Given the description of an element on the screen output the (x, y) to click on. 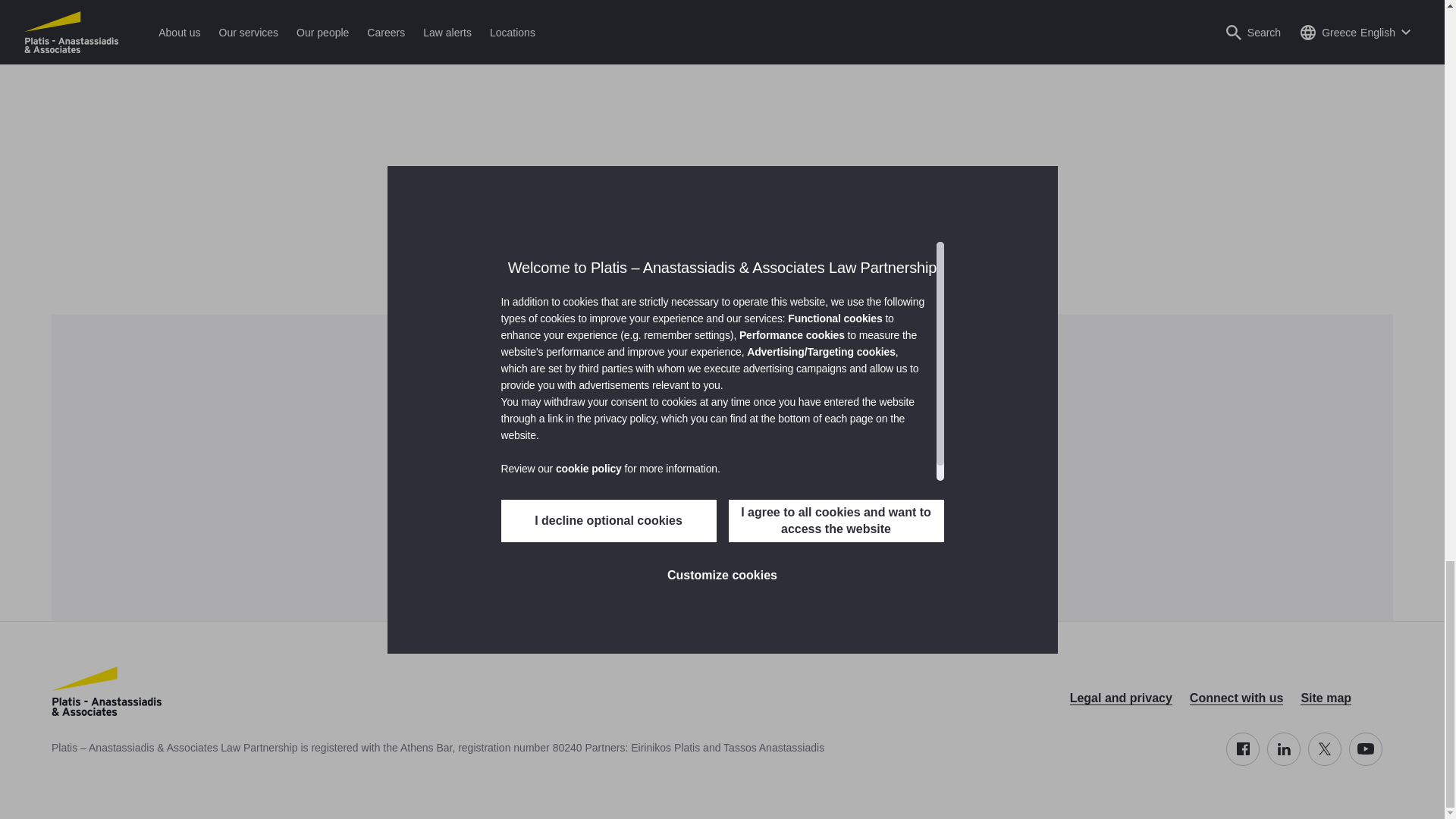
Site map (1325, 698)
Legal and privacy (1121, 698)
Twitter (1323, 748)
YouTube (1365, 748)
Facebook (1242, 748)
Discover more (722, 518)
Connect with us (1236, 698)
LinkedIn (1283, 748)
